Given the description of an element on the screen output the (x, y) to click on. 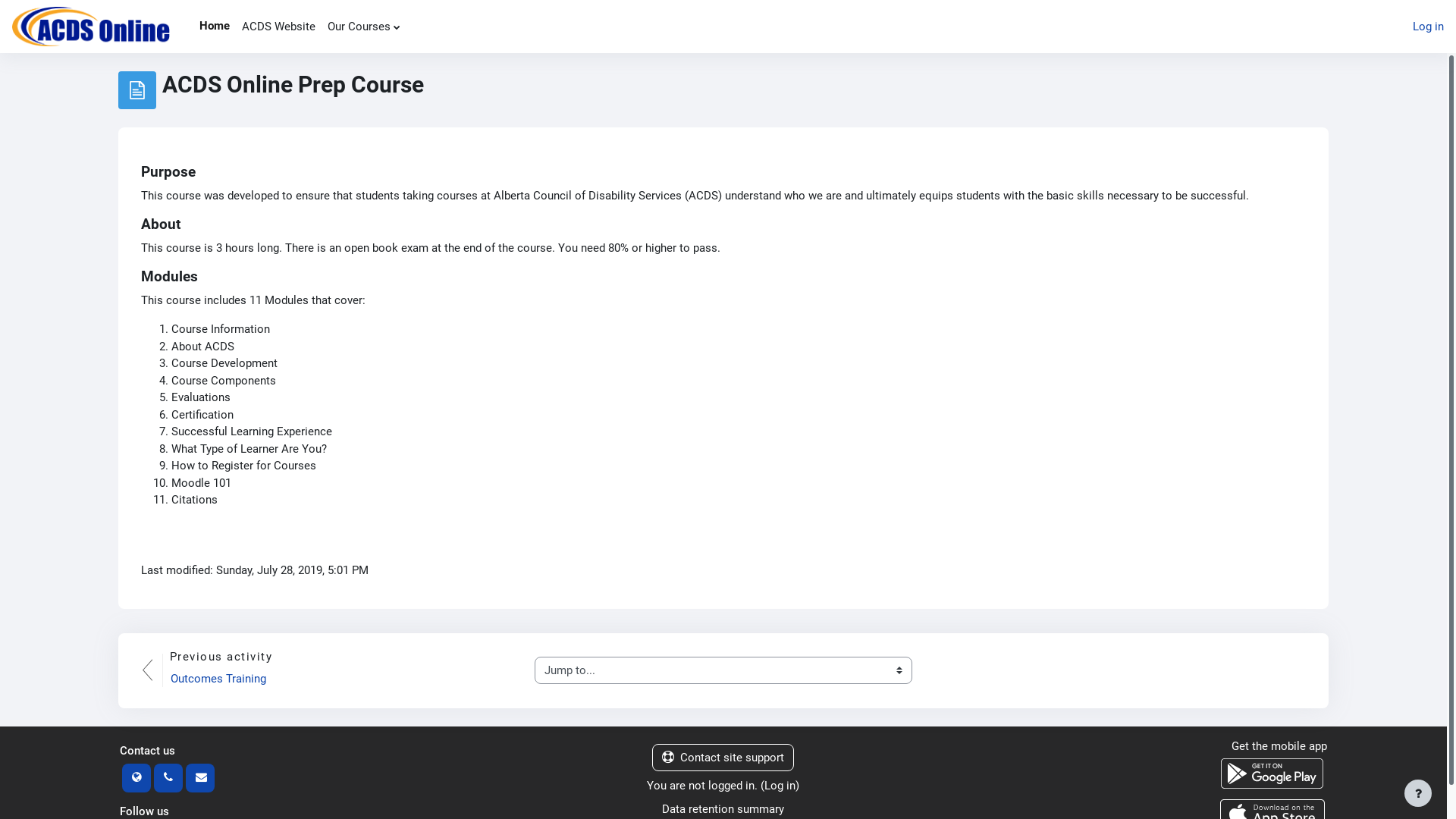
Outcomes Training Element type: text (217, 679)
Log in Element type: text (779, 785)
Log in Element type: text (1427, 26)
Contact site support Element type: text (722, 757)
Get the mobile app Element type: text (1279, 745)
Our Courses Element type: text (363, 26)
Data retention summary Element type: text (723, 808)
ACDS Website Element type: text (278, 26)
Home Element type: text (214, 26)
